Given the description of an element on the screen output the (x, y) to click on. 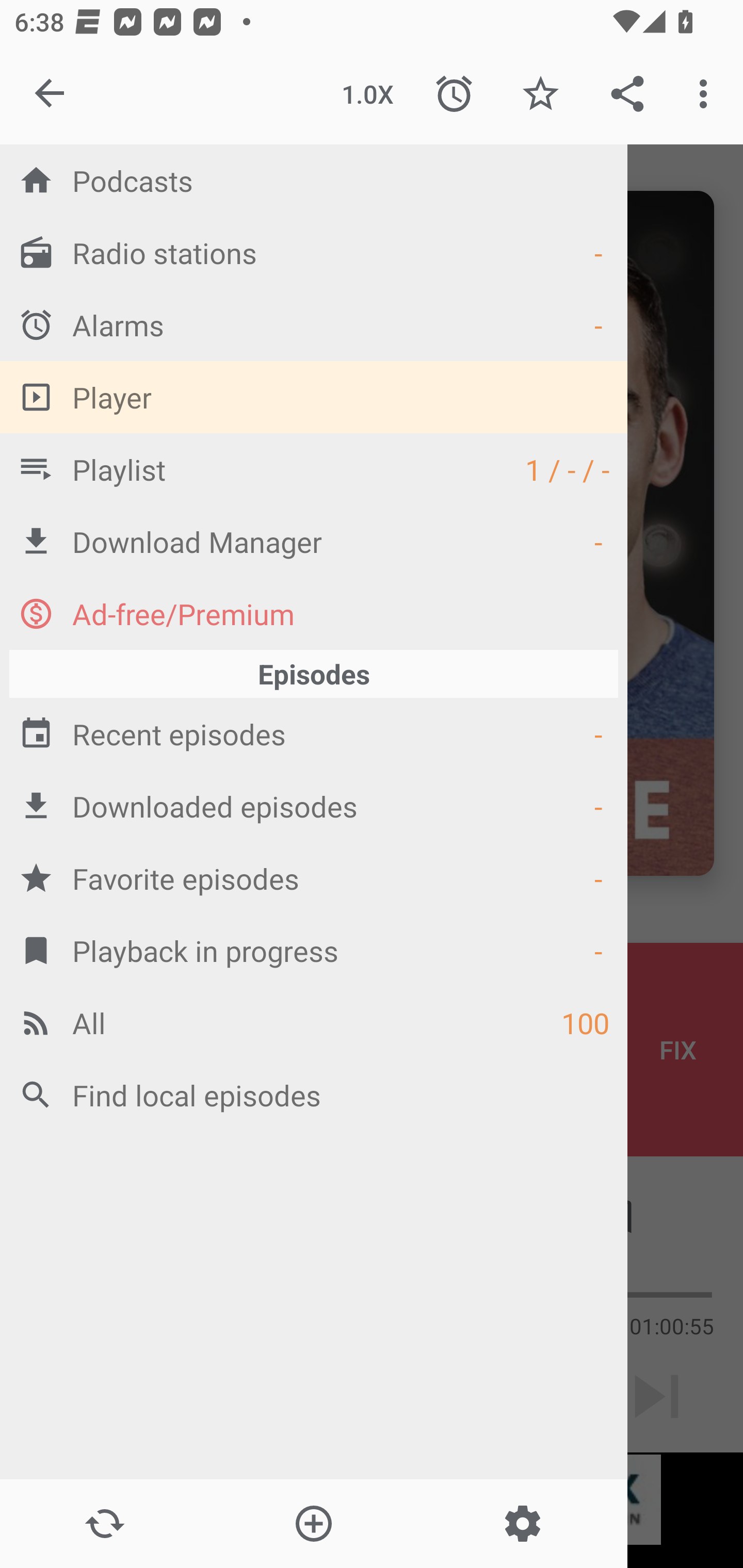
Close navigation sidebar (50, 93)
1.0X (366, 93)
Sleep Timer (453, 93)
Favorite (540, 93)
Share (626, 93)
More options (706, 93)
Podcasts (313, 180)
Radio stations  -  (313, 252)
Alarms  -  (313, 324)
Player (313, 396)
Playlist 1 / - / - (313, 468)
Download Manager  -  (313, 540)
Ad-free/Premium (313, 613)
Recent episodes  -  (313, 733)
Downloaded episodes  -  (313, 805)
Favorite episodes  -  (313, 878)
Playback in progress  -  (313, 950)
All 100 (313, 1022)
Find local episodes (313, 1094)
Update (104, 1523)
Add new Podcast (312, 1523)
Settings (522, 1523)
